Given the description of an element on the screen output the (x, y) to click on. 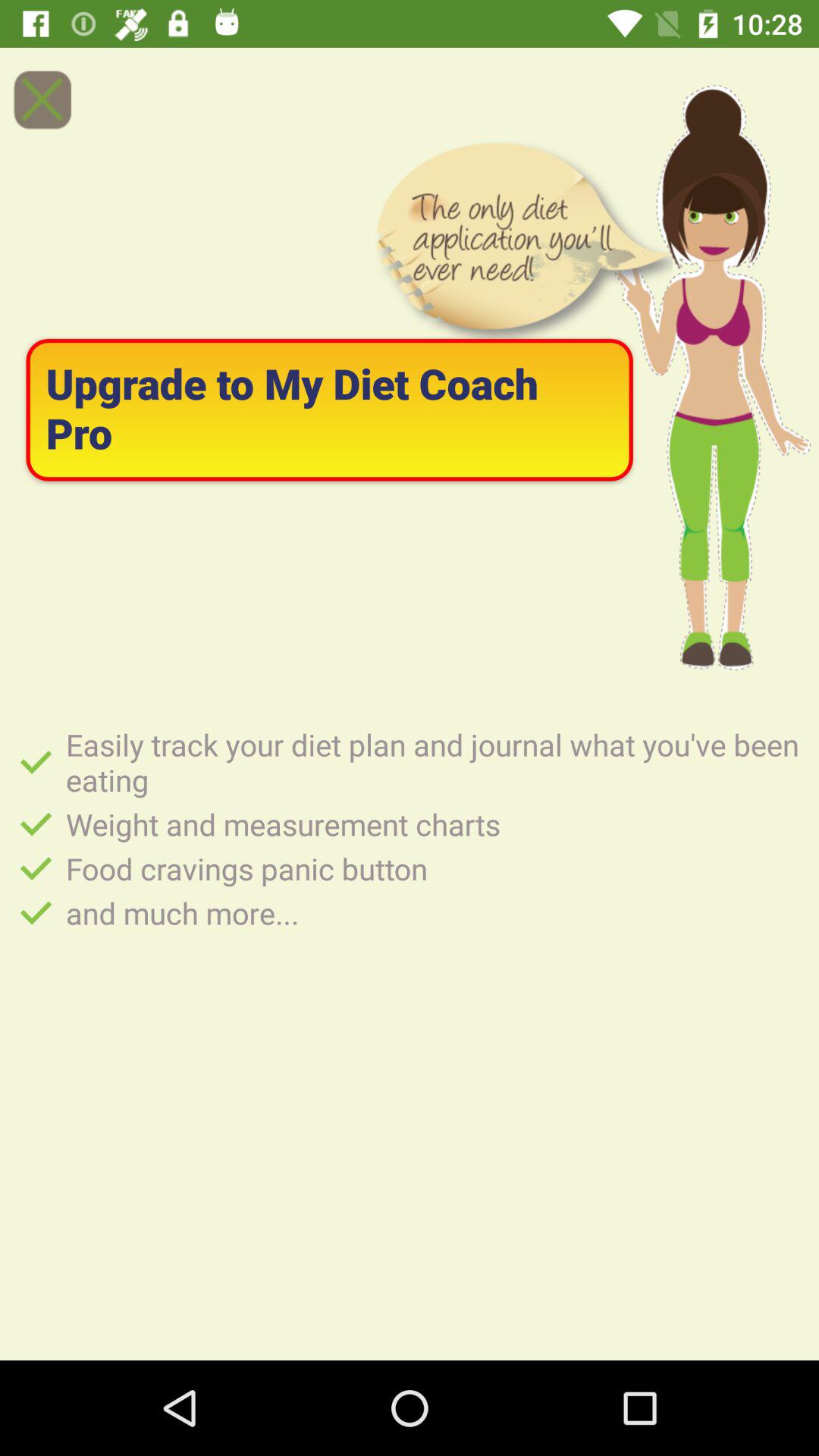
open icon at the top left corner (42, 99)
